Given the description of an element on the screen output the (x, y) to click on. 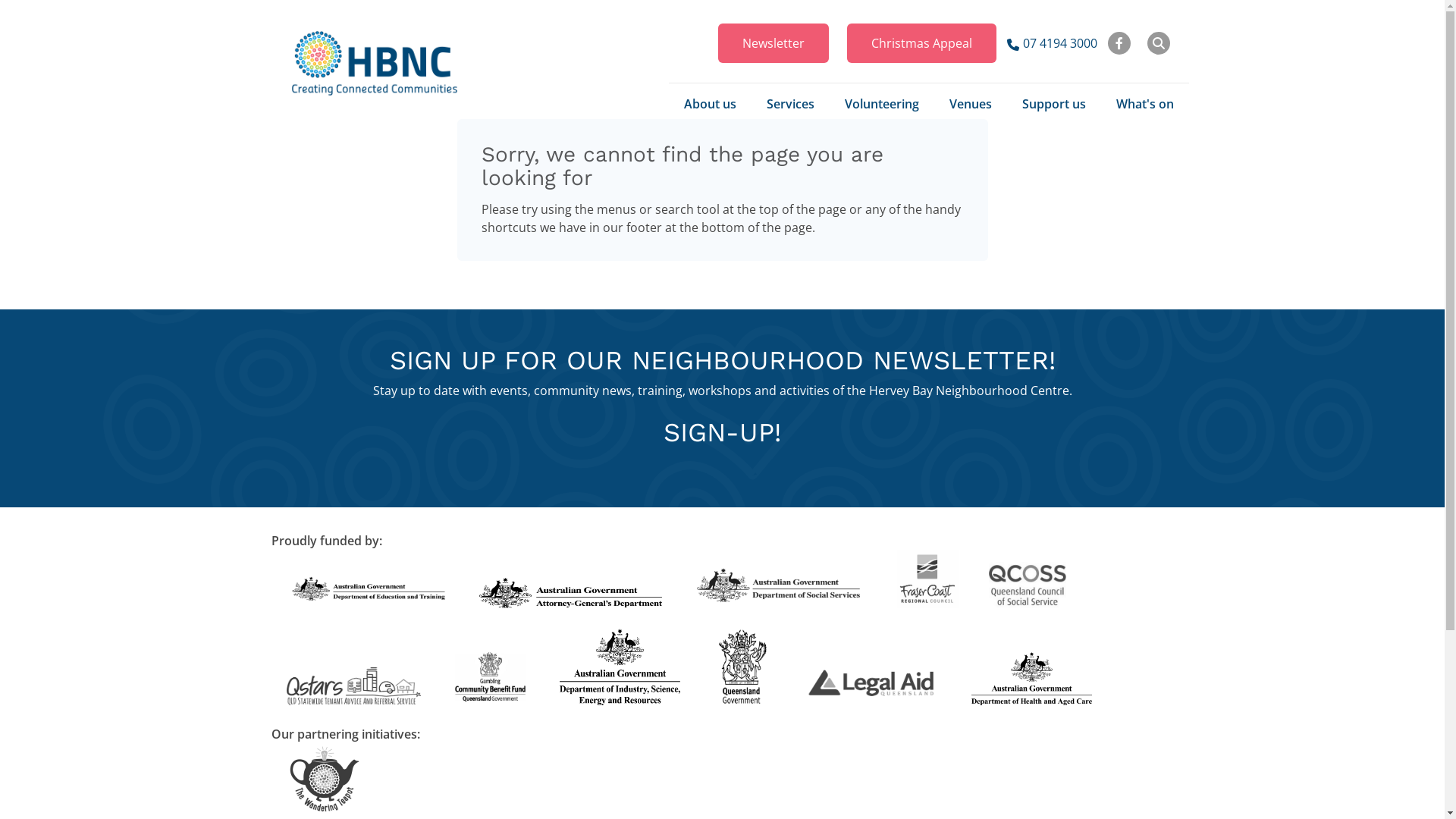
SIGN-UP! Element type: text (722, 432)
Facebook Element type: text (1118, 42)
What's on Element type: text (1145, 103)
Venues Element type: text (970, 103)
Newsletter Element type: text (772, 42)
HBNC Element type: text (374, 62)
About us Element type: text (709, 103)
Services Element type: text (789, 103)
Search Element type: hover (1145, 42)
Search Element type: text (1157, 42)
Volunteering Element type: text (881, 103)
Christmas Appeal Element type: text (920, 42)
Support us Element type: text (1054, 103)
